Given the description of an element on the screen output the (x, y) to click on. 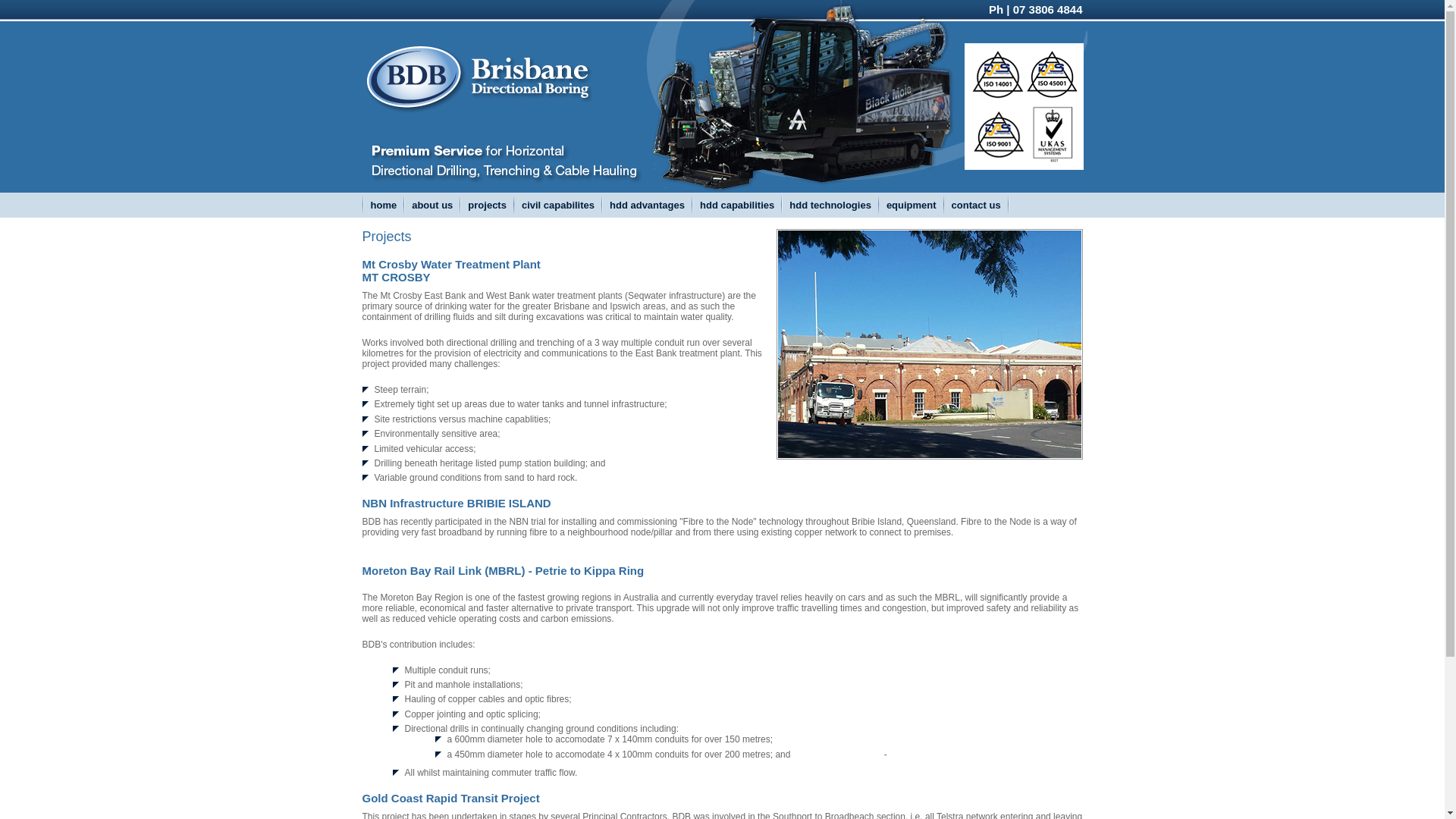
about us Element type: text (431, 204)
civil capabilites Element type: text (557, 204)
hdd advantages Element type: text (646, 204)
home Element type: text (384, 204)
contact us Element type: text (975, 204)
hdd technologies Element type: text (830, 204)
equipment Element type: text (911, 204)
projects Element type: text (487, 204)
hdd capabilities Element type: text (737, 204)
